Given the description of an element on the screen output the (x, y) to click on. 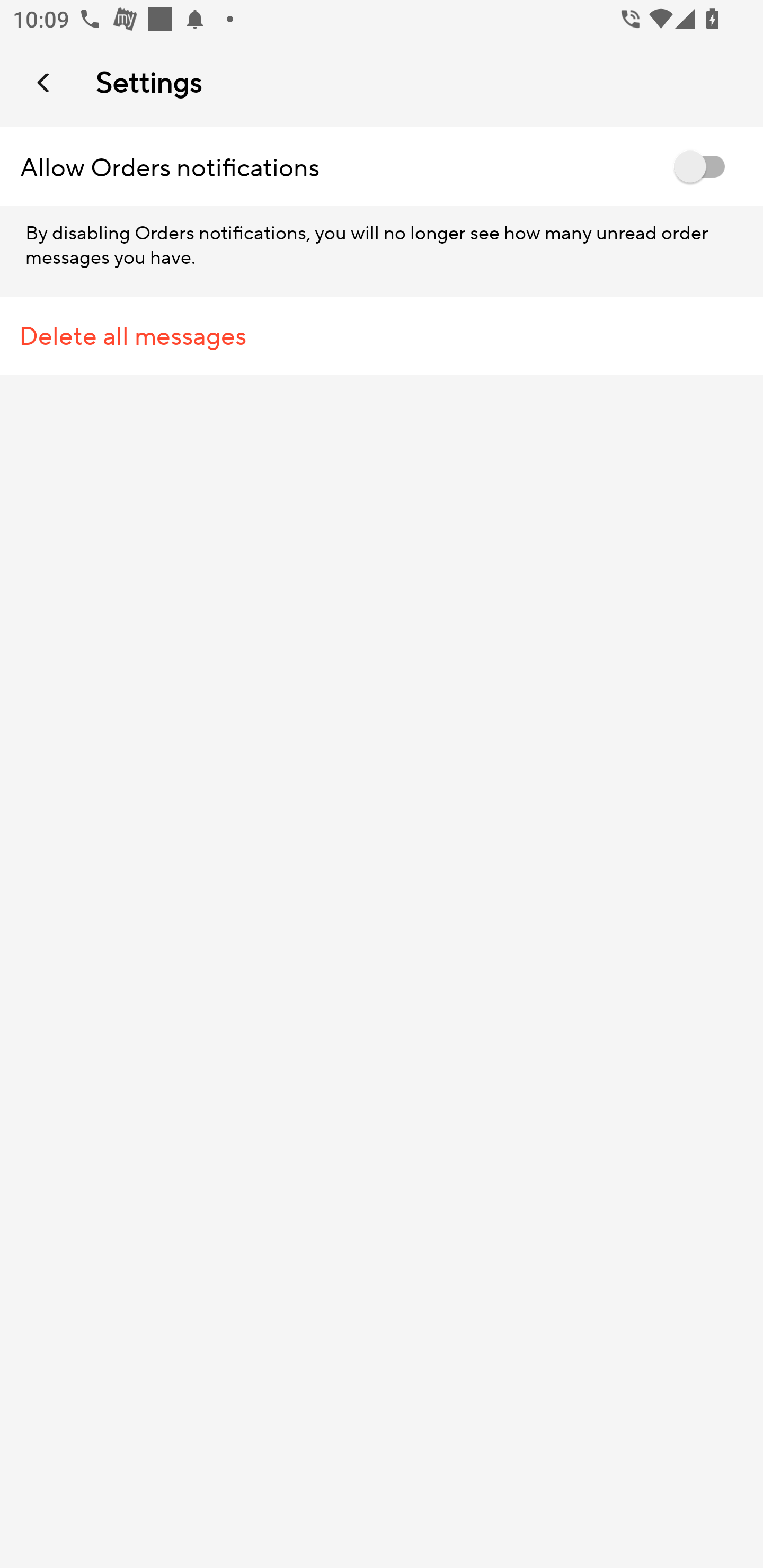
Navigate up (44, 82)
Delete all messages (381, 335)
